Given the description of an element on the screen output the (x, y) to click on. 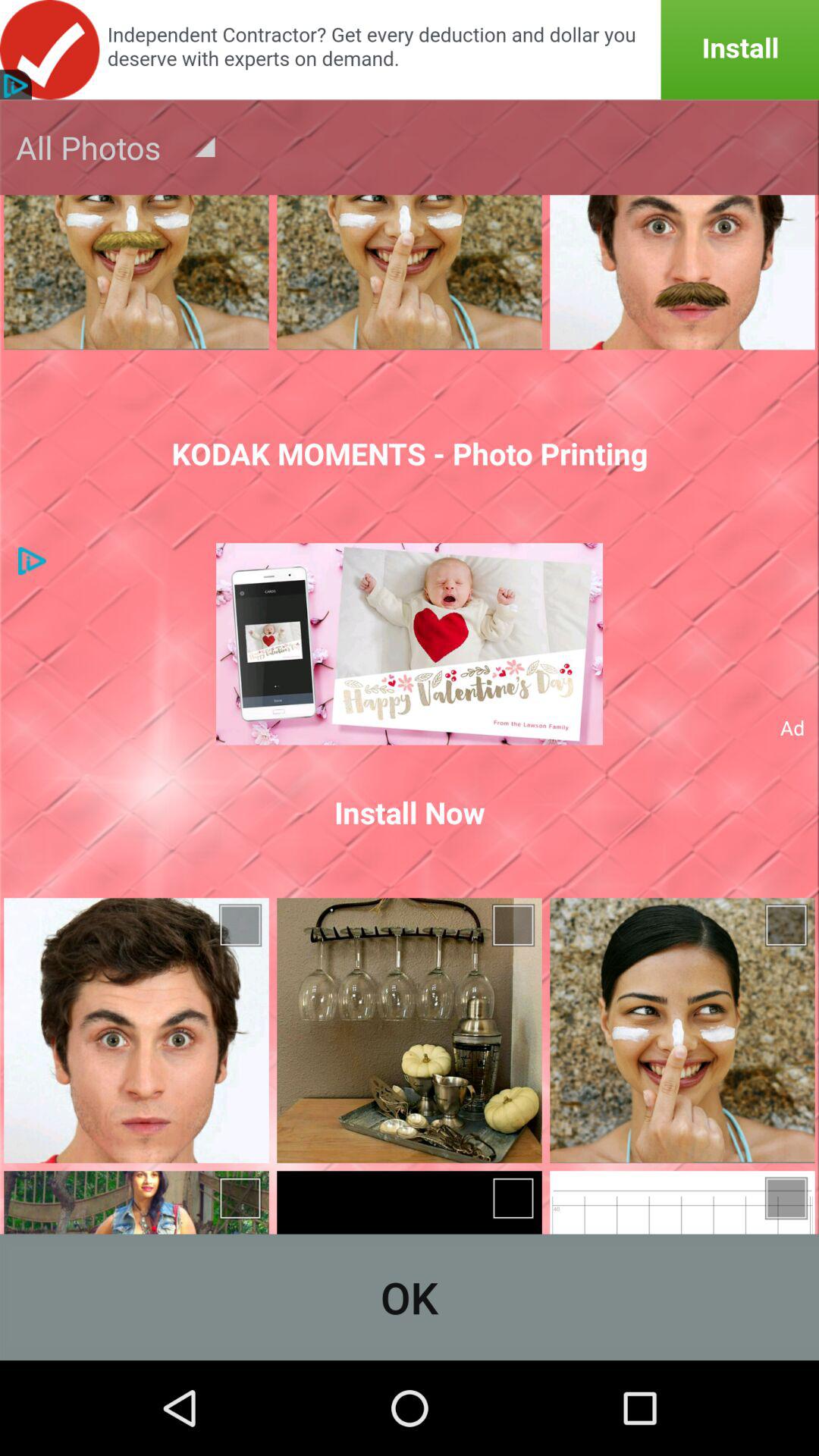
swipe until the install now item (409, 812)
